Given the description of an element on the screen output the (x, y) to click on. 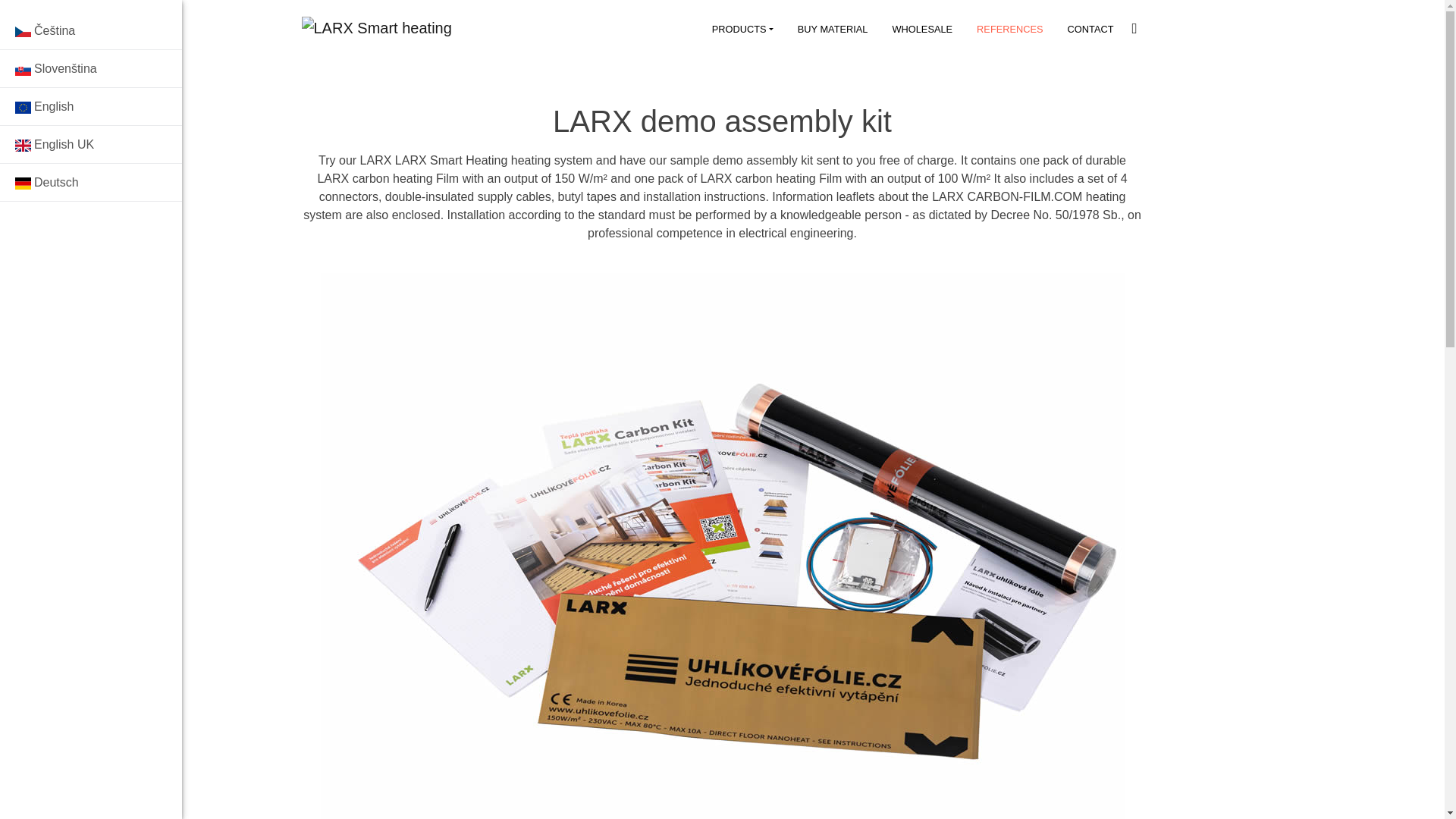
REFERENCES (1009, 28)
Wholesale (91, 55)
Contact (91, 434)
LARX Heating Mat (91, 130)
For property developers (91, 207)
Looking for distributors (91, 358)
CONTACT (1090, 28)
BUY MATERIAL (833, 28)
Carbon Kit (91, 93)
English UK (91, 144)
